Given the description of an element on the screen output the (x, y) to click on. 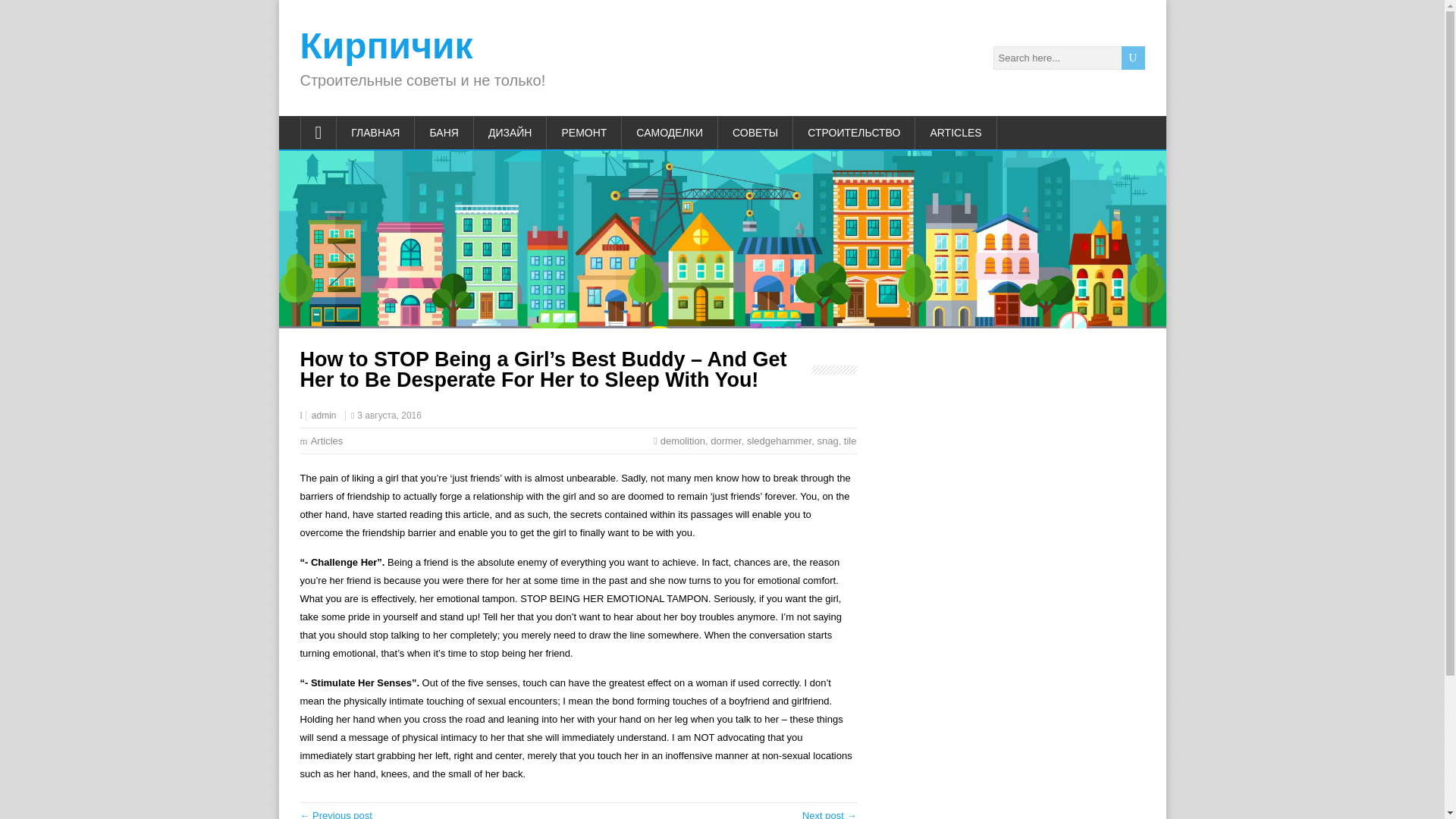
U (1132, 57)
How to Get Your Girlfriend in the Mood in 30 Seconds (335, 814)
U (1132, 57)
demolition (682, 440)
U (1132, 57)
Articles (327, 440)
sledgehammer (778, 440)
admin (323, 415)
dormer (725, 440)
snag (827, 440)
